Given the description of an element on the screen output the (x, y) to click on. 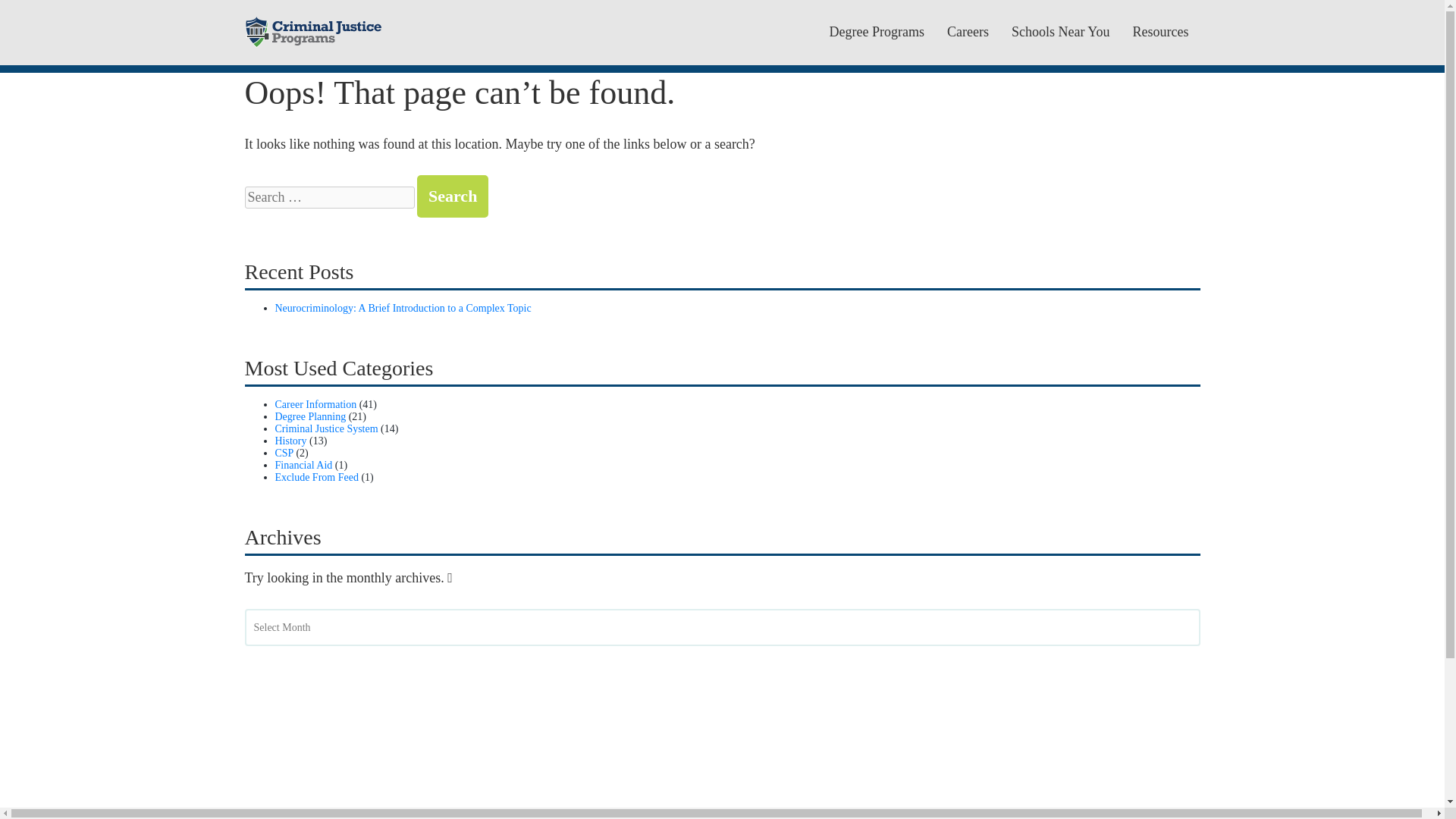
Careers (967, 31)
Search (451, 196)
Search (451, 196)
Degree Programs (876, 31)
